Given the description of an element on the screen output the (x, y) to click on. 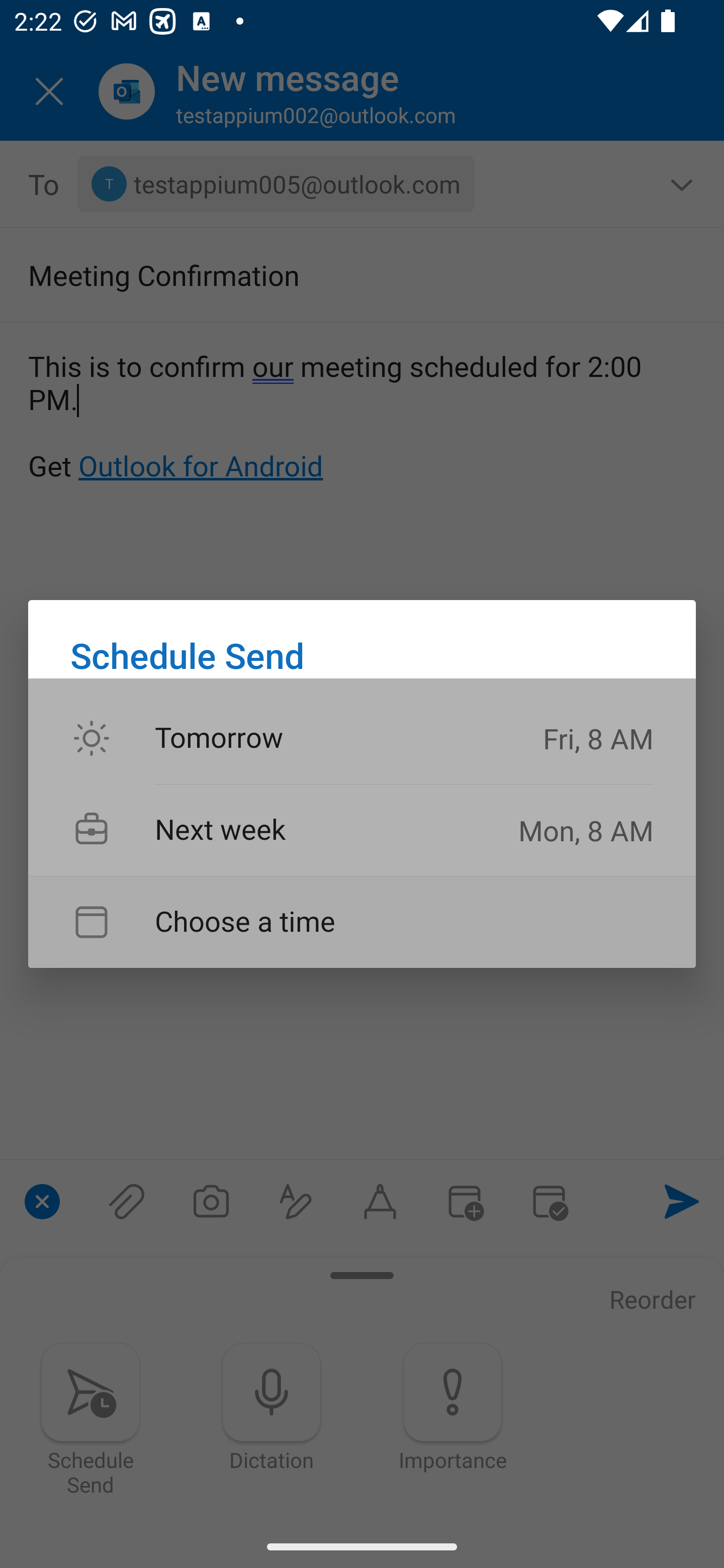
Option 1 Tomorrow Fri, 8 AM (361, 738)
Option 2 Next week Mon, 8 AM (361, 830)
Choose a time (361, 921)
